Given the description of an element on the screen output the (x, y) to click on. 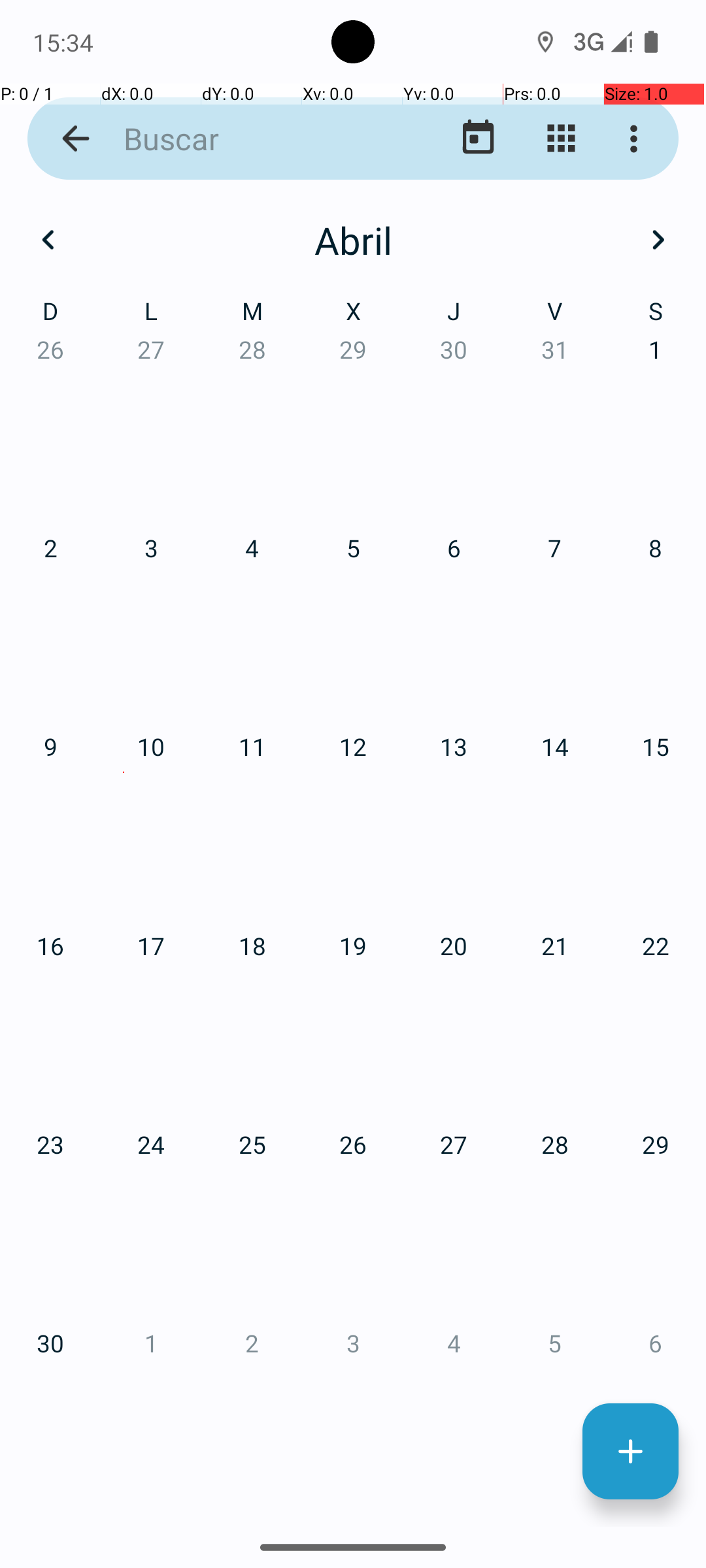
Buscar Element type: android.widget.EditText (252, 138)
Ir al día de hoy Element type: android.widget.Button (477, 138)
Cambiar vista Element type: android.widget.Button (560, 138)
Más opciones Element type: android.widget.ImageView (636, 138)
Nuevo evento Element type: android.widget.ImageButton (630, 1451)
ENERO Element type: android.widget.TextView (123, 319)
FEBRERO Element type: android.widget.TextView (352, 319)
MARZO Element type: android.widget.TextView (582, 319)
ABRIL Element type: android.widget.TextView (123, 621)
MAYO Element type: android.widget.TextView (352, 621)
JUNIO Element type: android.widget.TextView (582, 621)
JULIO Element type: android.widget.TextView (123, 923)
AGOSTO Element type: android.widget.TextView (352, 923)
SEPTIEMBRE Element type: android.widget.TextView (582, 923)
OCTUBRE Element type: android.widget.TextView (123, 1224)
NOVIEMBRE Element type: android.widget.TextView (352, 1224)
DICIEMBRE Element type: android.widget.TextView (582, 1224)
Abril Element type: android.widget.TextView (352, 239)
